Given the description of an element on the screen output the (x, y) to click on. 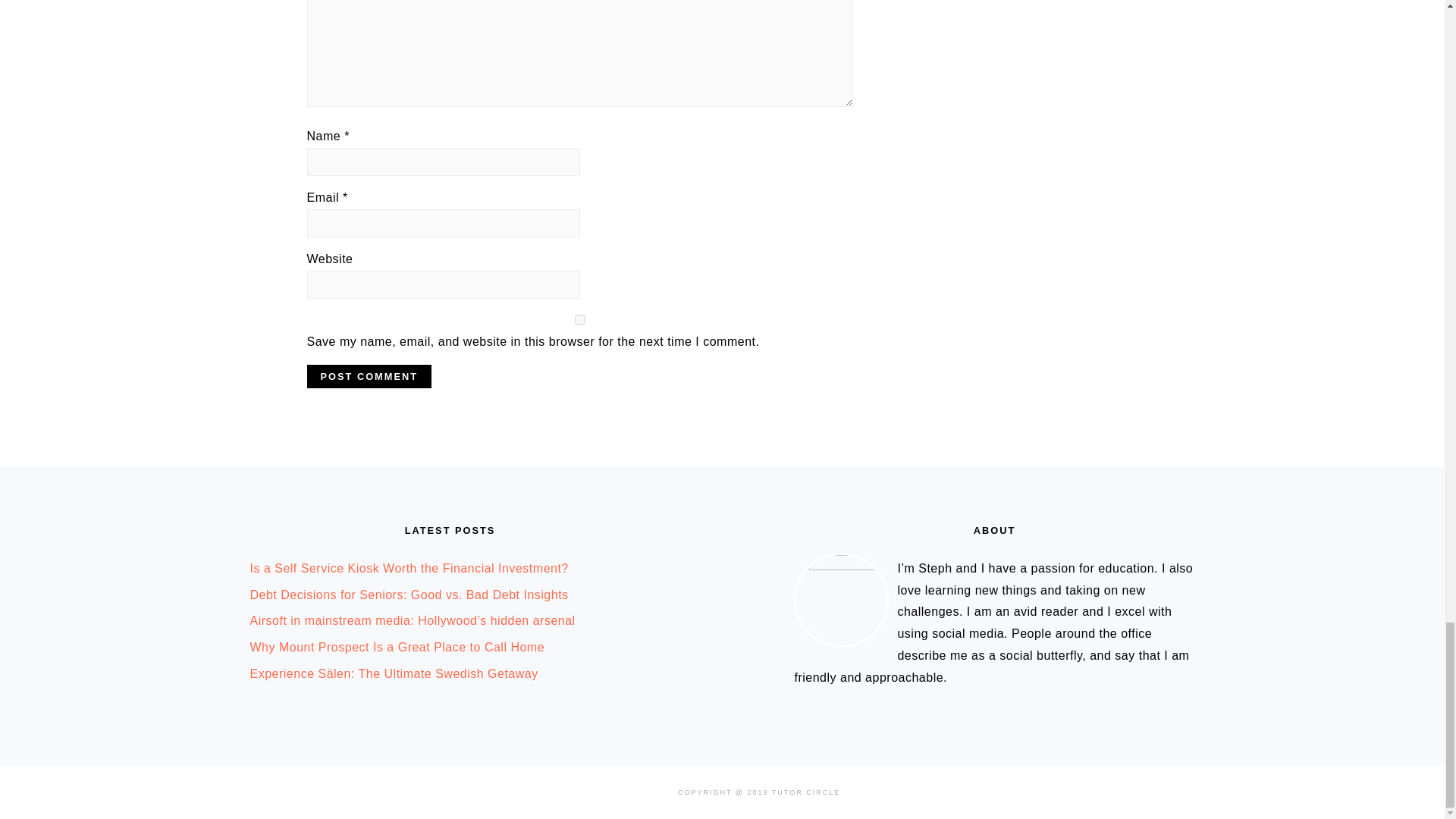
yes (578, 319)
Debt Decisions for Seniors: Good vs. Bad Debt Insights (409, 594)
Post Comment (367, 376)
Post Comment (367, 376)
Is a Self Service Kiosk Worth the Financial Investment? (409, 567)
